Given the description of an element on the screen output the (x, y) to click on. 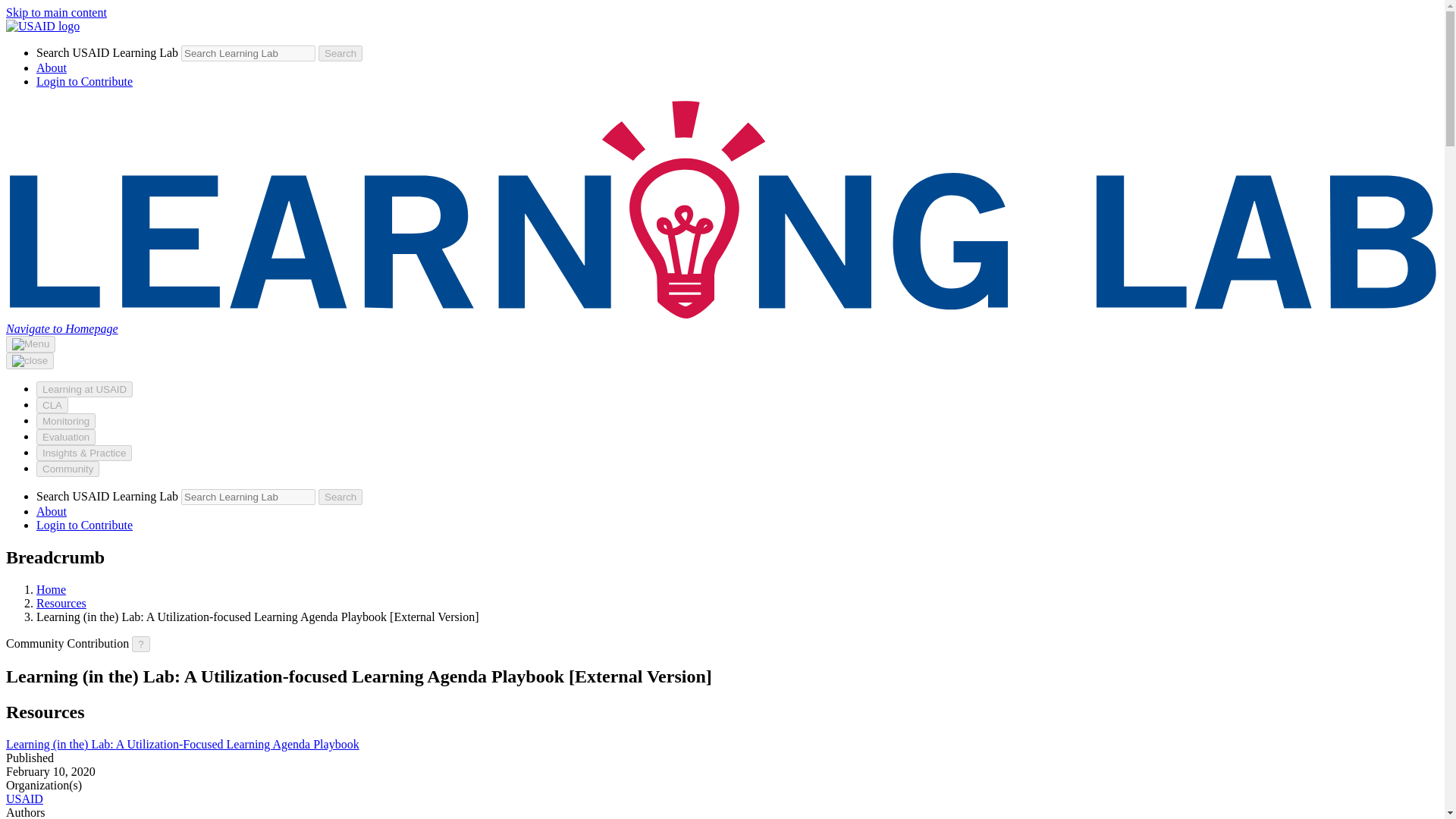
About Learning Lab (51, 511)
USAID (24, 798)
Skip to main content (55, 11)
Search (340, 53)
Resources (60, 603)
Home (50, 589)
Login to Contribute (84, 81)
About (51, 511)
Monitoring (66, 421)
Learning at USAID (84, 389)
Evaluation (66, 437)
About Learning Lab (51, 67)
CLA (52, 405)
Login to Contribute (84, 524)
